Given the description of an element on the screen output the (x, y) to click on. 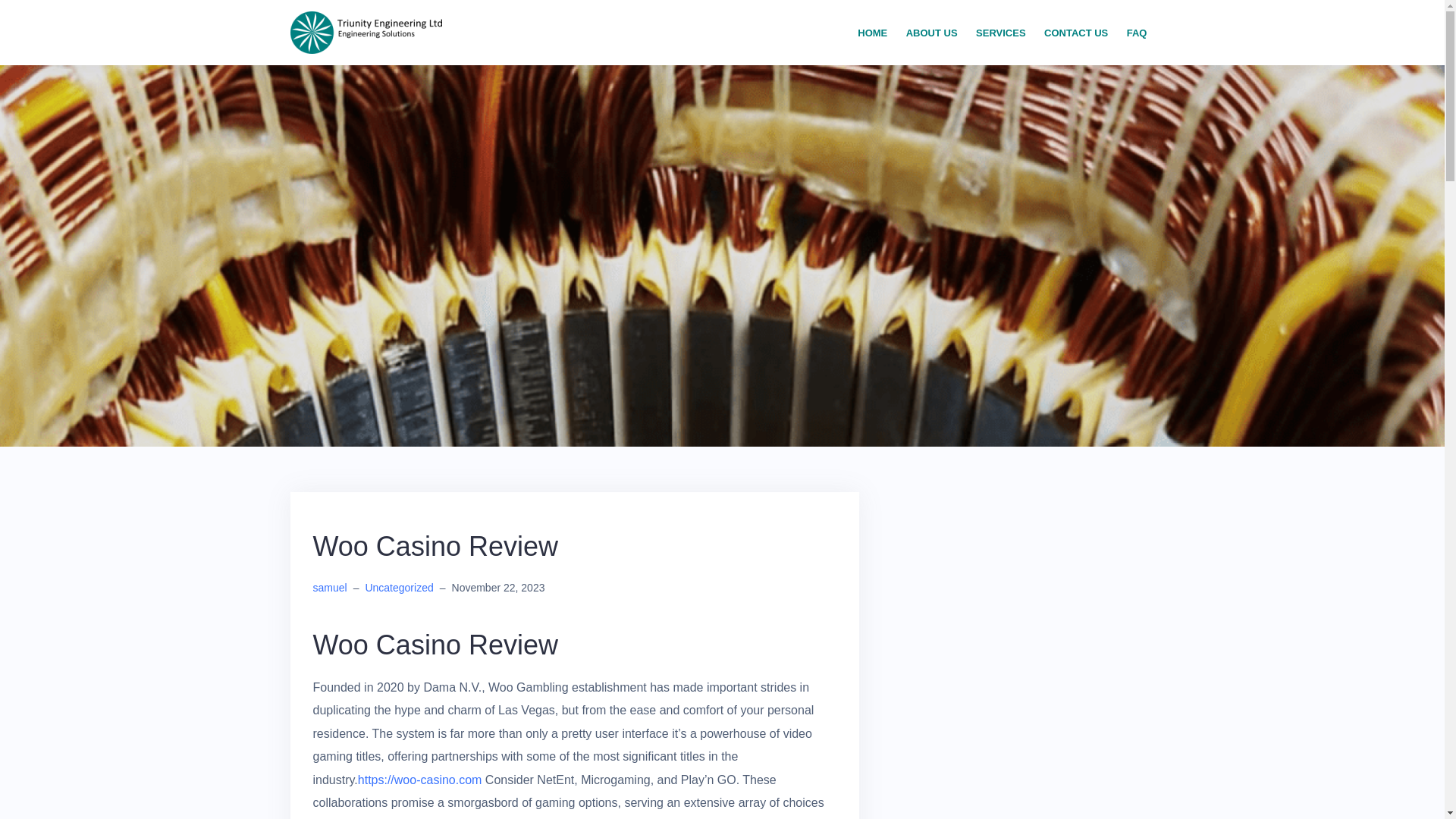
Uncategorized (398, 587)
FAQ (1136, 33)
ABOUT US (931, 33)
HOME (871, 33)
samuel (329, 587)
CONTACT US (1075, 33)
SERVICES (1000, 33)
